Given the description of an element on the screen output the (x, y) to click on. 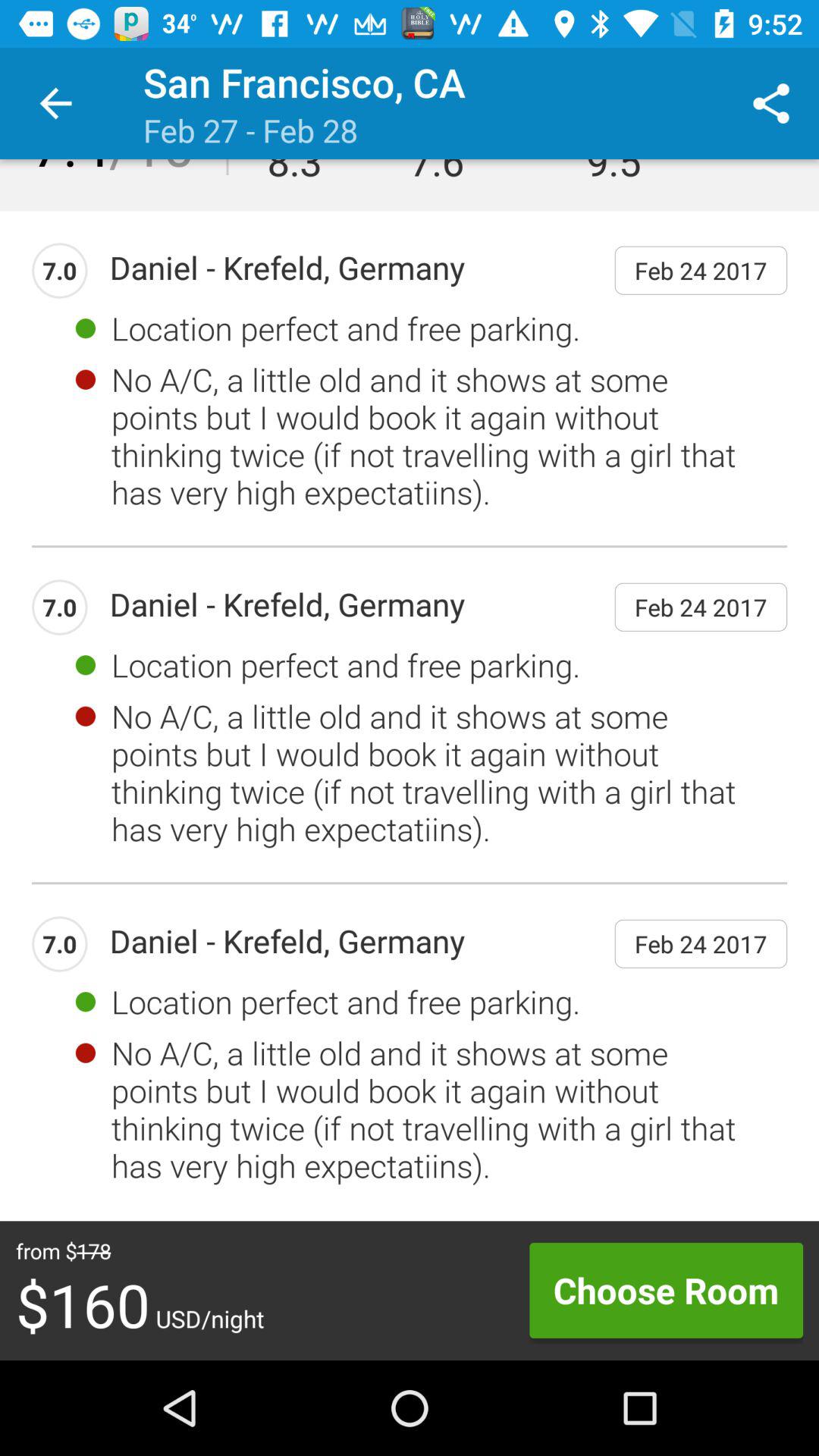
click the item to the right of the $160 usd/night icon (666, 1290)
